Given the description of an element on the screen output the (x, y) to click on. 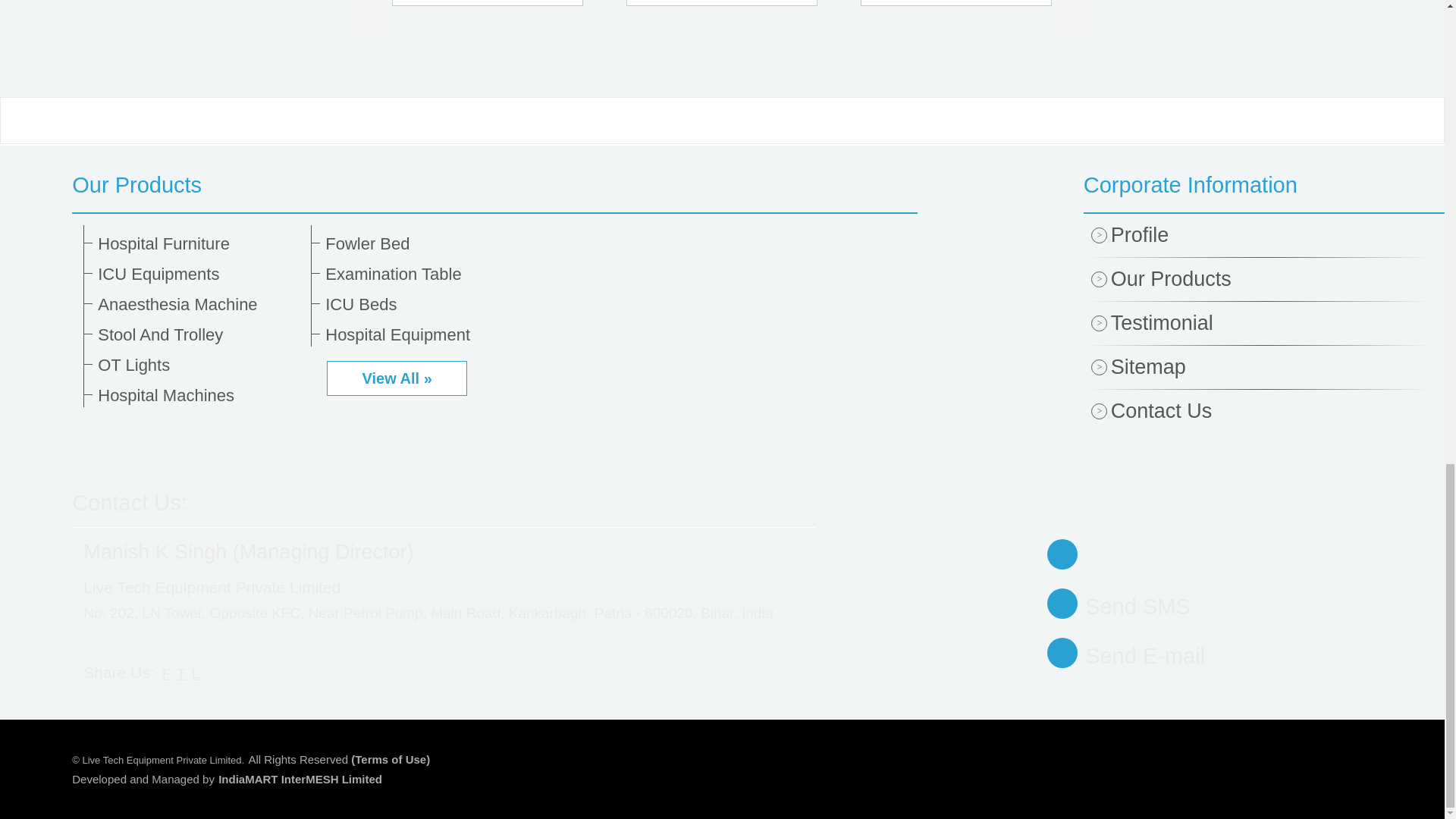
Anaesthesia Machine (198, 304)
ICU Beds (426, 304)
ICU Equipments (198, 274)
Hospital Equipment (426, 334)
Stool And Trolley (198, 334)
OT Lights (198, 365)
Contact Us: (129, 502)
Fowler Bed (426, 244)
Hospital Machines (198, 395)
Our Products (494, 185)
